Given the description of an element on the screen output the (x, y) to click on. 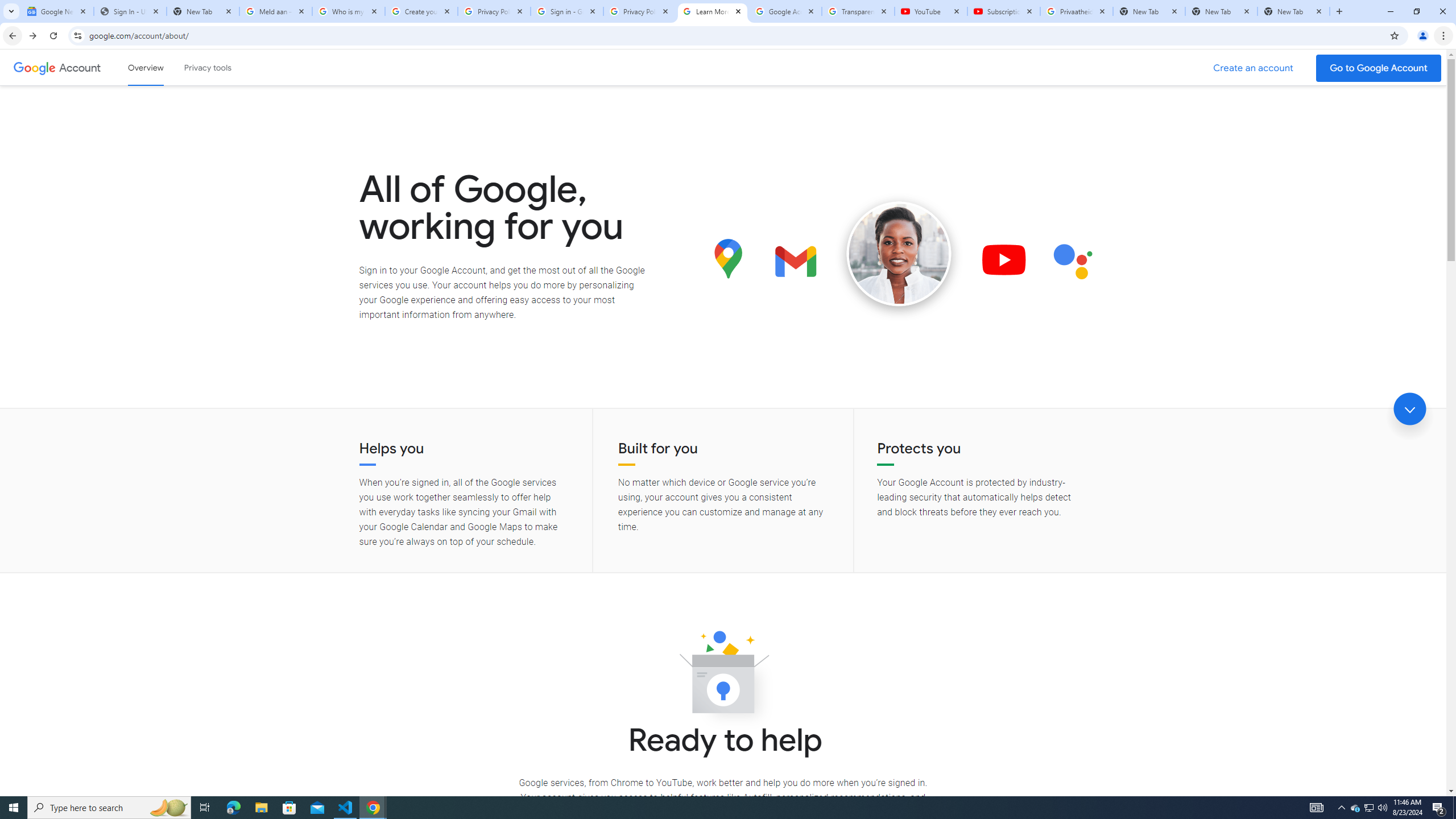
Save As (59, 380)
Print (59, 504)
Manage Settings (202, 109)
Sign In (192, 240)
Options (59, 753)
Get Add-ins (59, 286)
Info (59, 318)
